Given the description of an element on the screen output the (x, y) to click on. 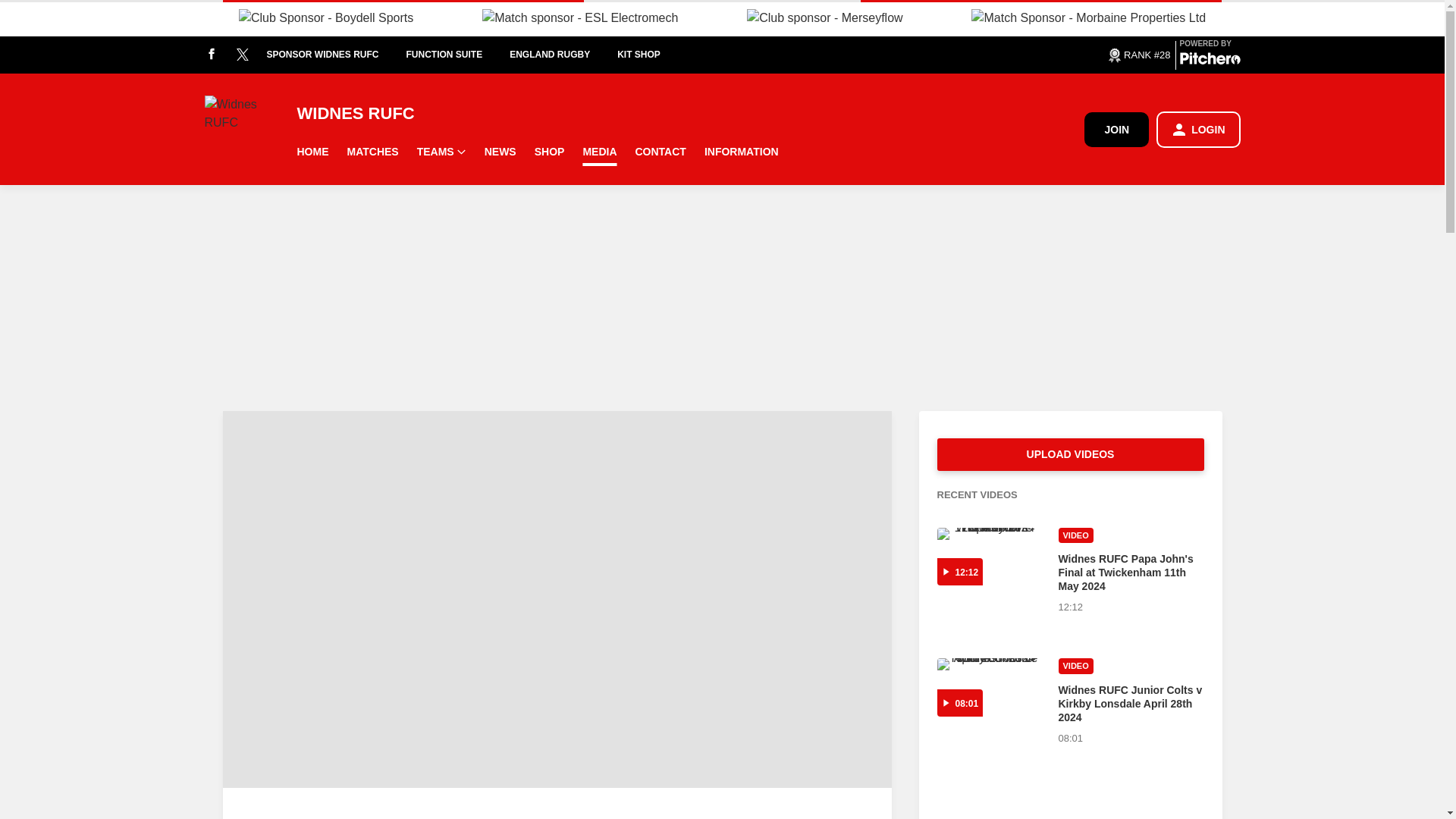
 Match Sponsor - Morbaine Properties Ltd (1088, 18)
MEDIA (599, 152)
Match sponsor - ESL Electromech (579, 18)
SPONSOR WIDNES RUFC (336, 54)
LOGIN (1198, 129)
KIT SHOP (652, 54)
Pitchero Rankings (1137, 54)
ENGLAND RUGBY (563, 54)
WIDNES RUFC (690, 113)
SHOP (549, 152)
